Given the description of an element on the screen output the (x, y) to click on. 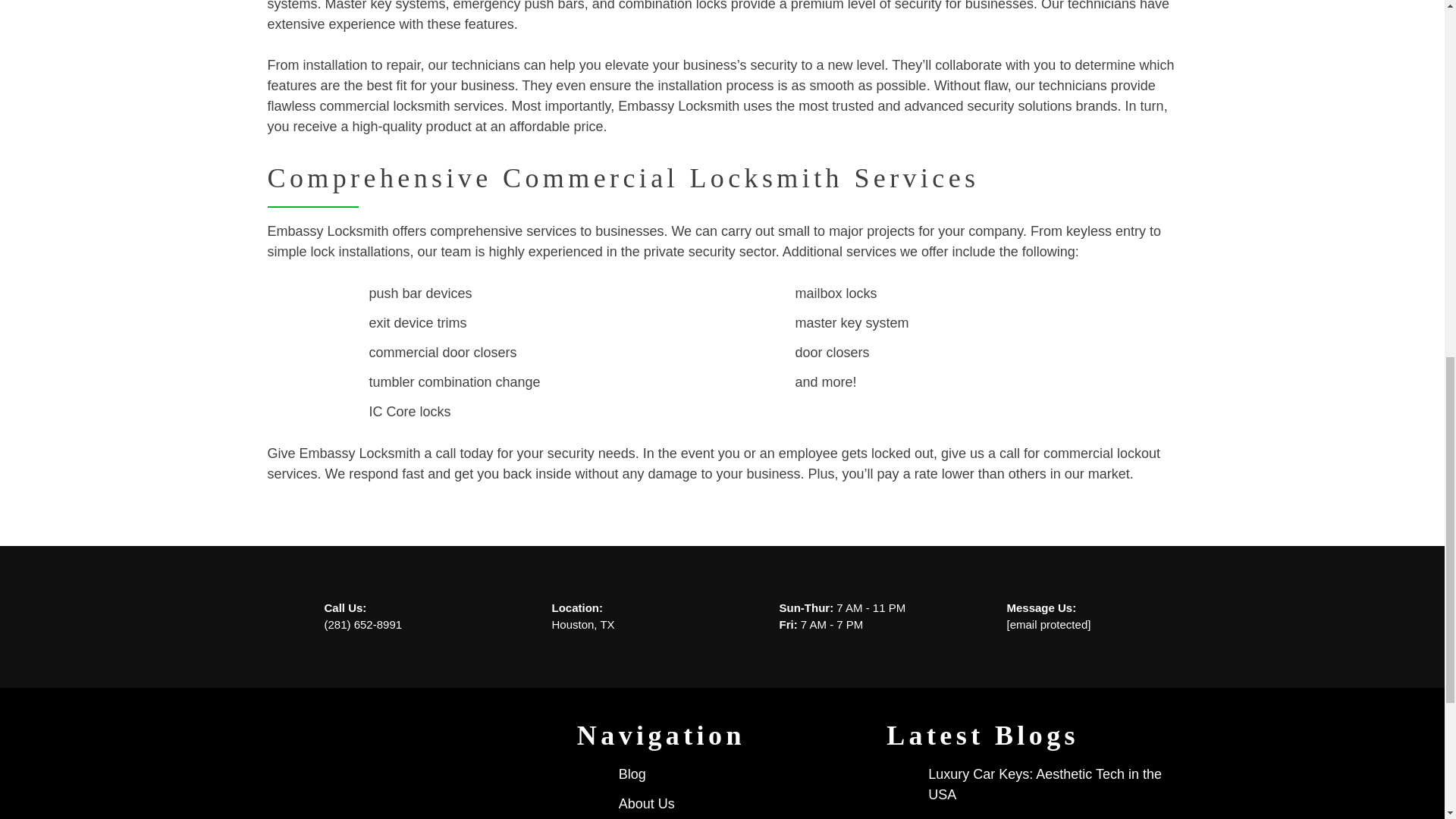
The Dark History Behind Crash Bars (1038, 816)
Fri: 7 AM - 7 PM (820, 624)
Sun-Thur: 7 AM - 11 PM (841, 607)
Luxury Car Keys: Aesthetic Tech in the USA (1052, 784)
About Us (646, 803)
Location: (577, 607)
Blog (632, 774)
Houston, TX (582, 624)
